Given the description of an element on the screen output the (x, y) to click on. 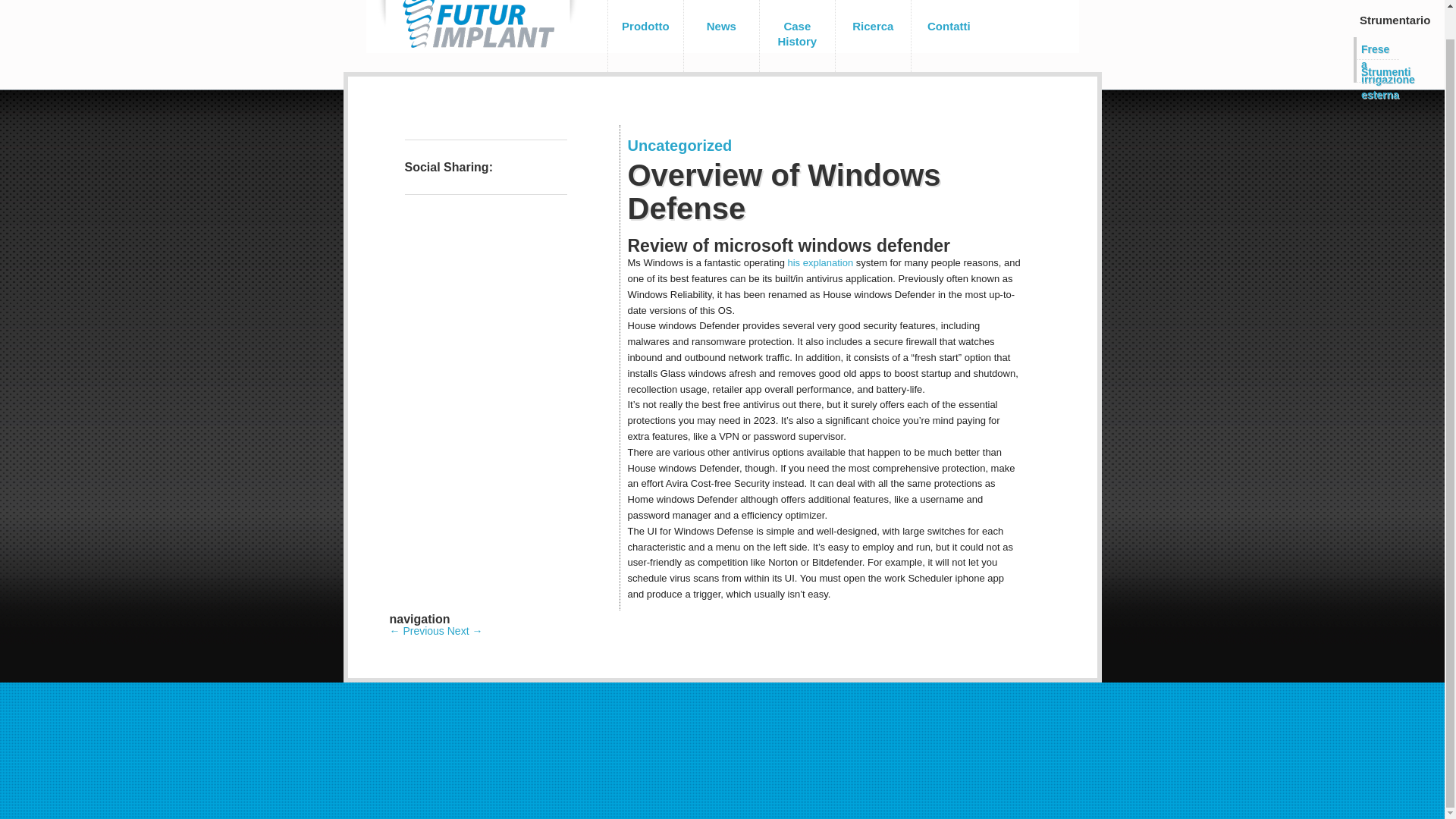
Ricerca (872, 36)
Strumenti (1376, 69)
Frese a irrigazione esterna (1376, 47)
his explanation (820, 262)
Case History (796, 36)
News (720, 36)
Prodotto (644, 36)
Contatti (949, 36)
Uncategorized (679, 145)
